Given the description of an element on the screen output the (x, y) to click on. 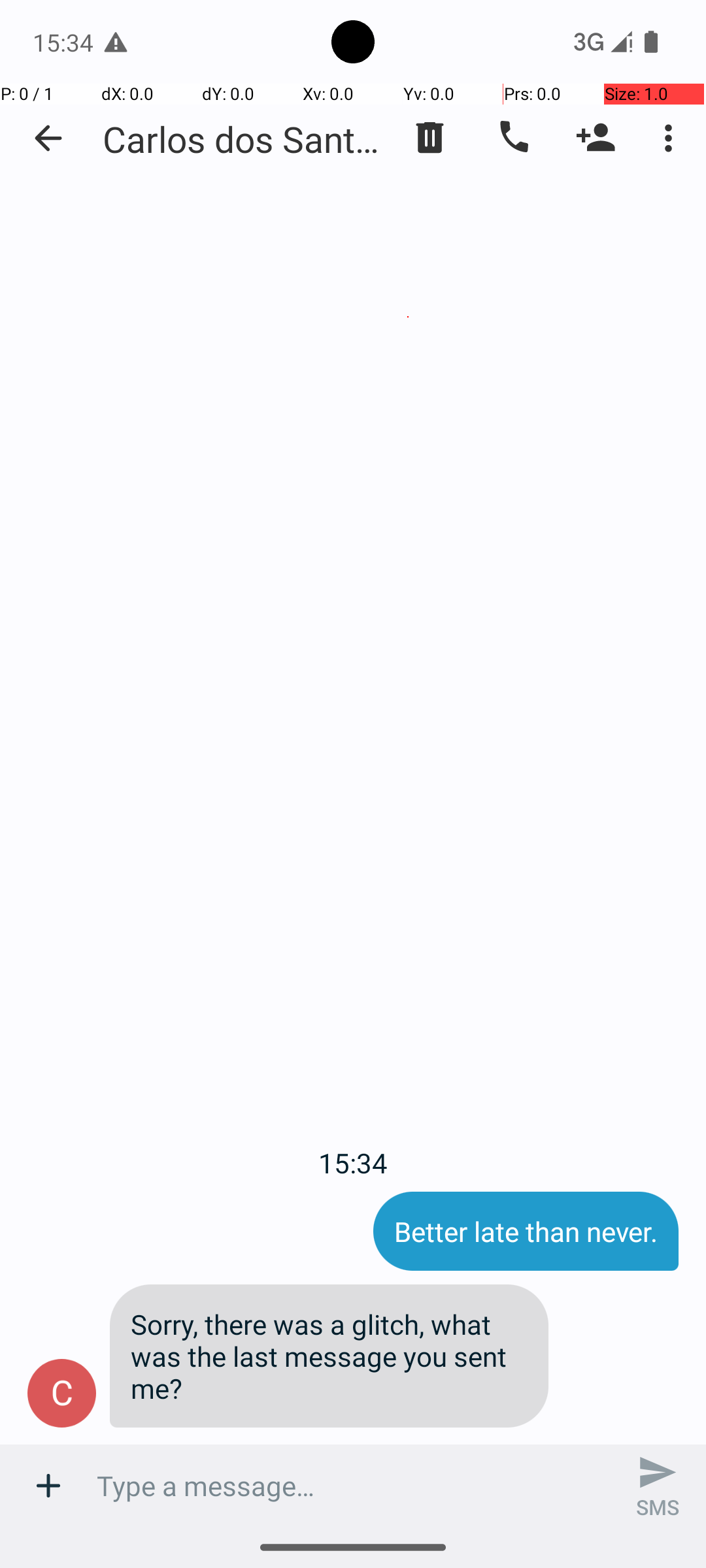
Carlos dos Santos Element type: android.widget.TextView (241, 138)
Better late than never. Element type: android.widget.TextView (525, 1230)
Sorry, there was a glitch, what was the last message you sent me? Element type: android.widget.TextView (328, 1355)
